Given the description of an element on the screen output the (x, y) to click on. 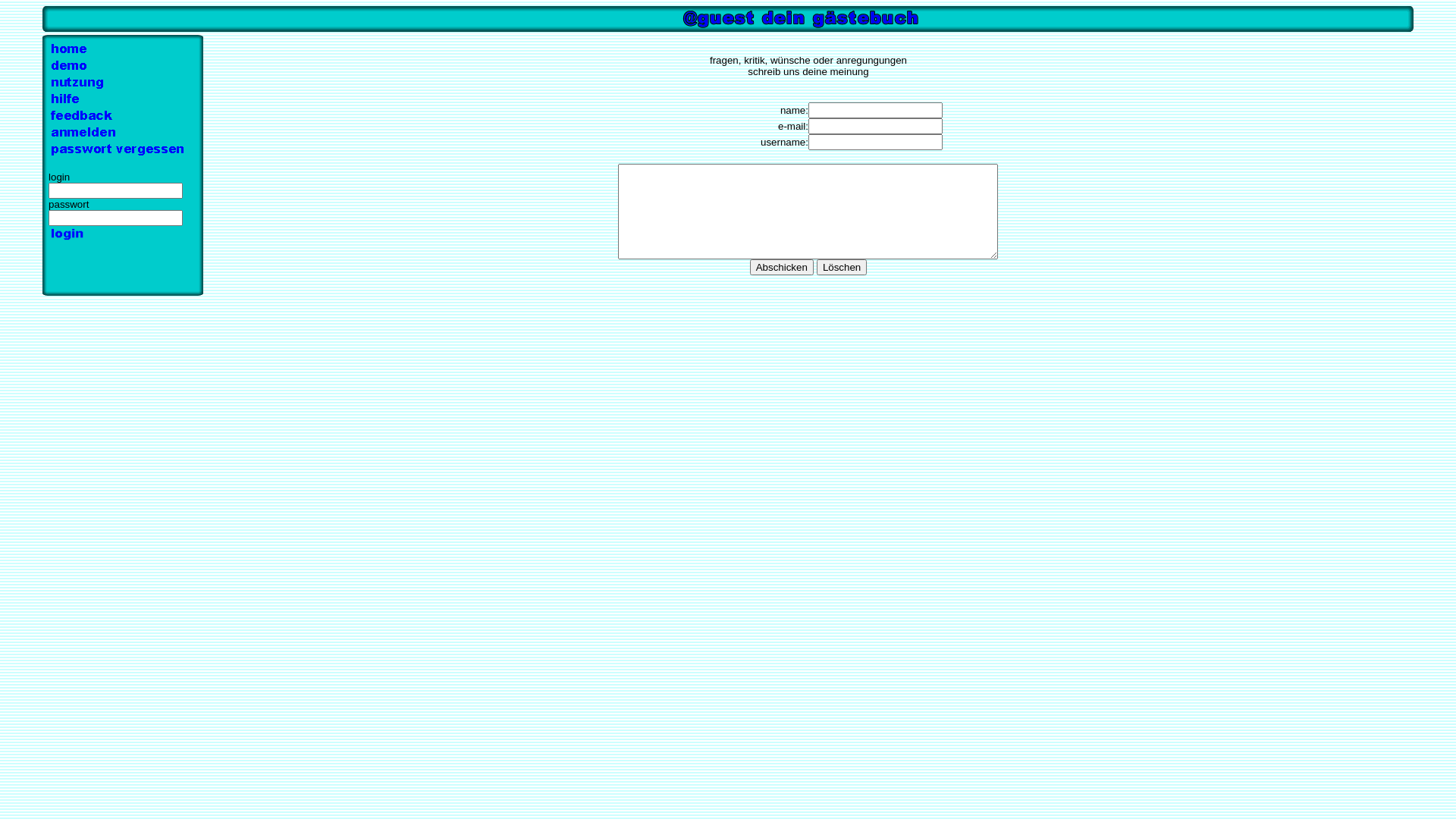
Abschicken Element type: text (781, 267)
